Given the description of an element on the screen output the (x, y) to click on. 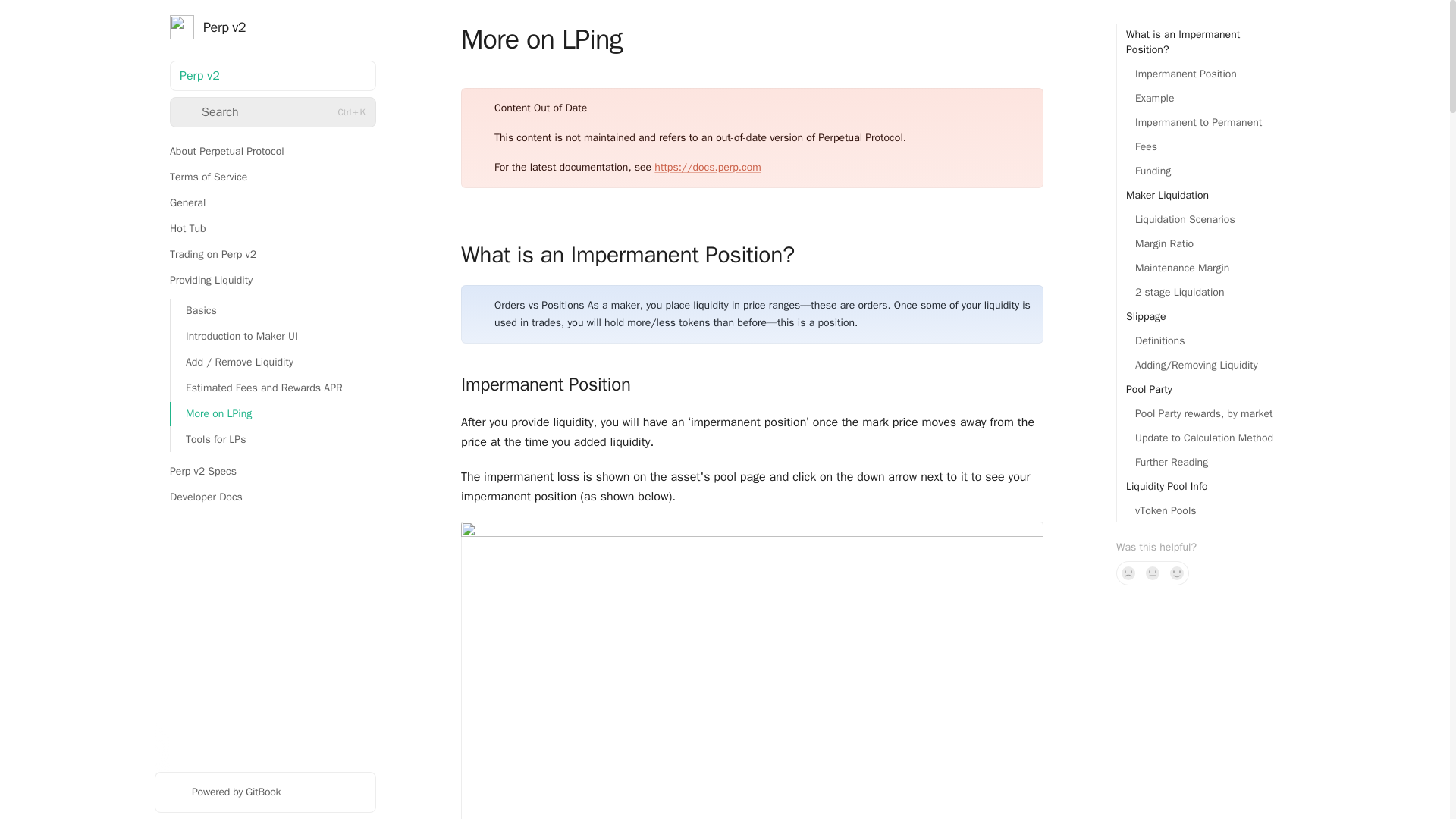
General (264, 202)
Terms of Service (264, 177)
Introduction to Maker UI (272, 336)
Not sure (1152, 573)
Providing Liquidity (264, 280)
Perp v2 (272, 27)
Basics (272, 310)
No (1128, 573)
Hot Tub (264, 228)
About Perpetual Protocol (264, 151)
